Given the description of an element on the screen output the (x, y) to click on. 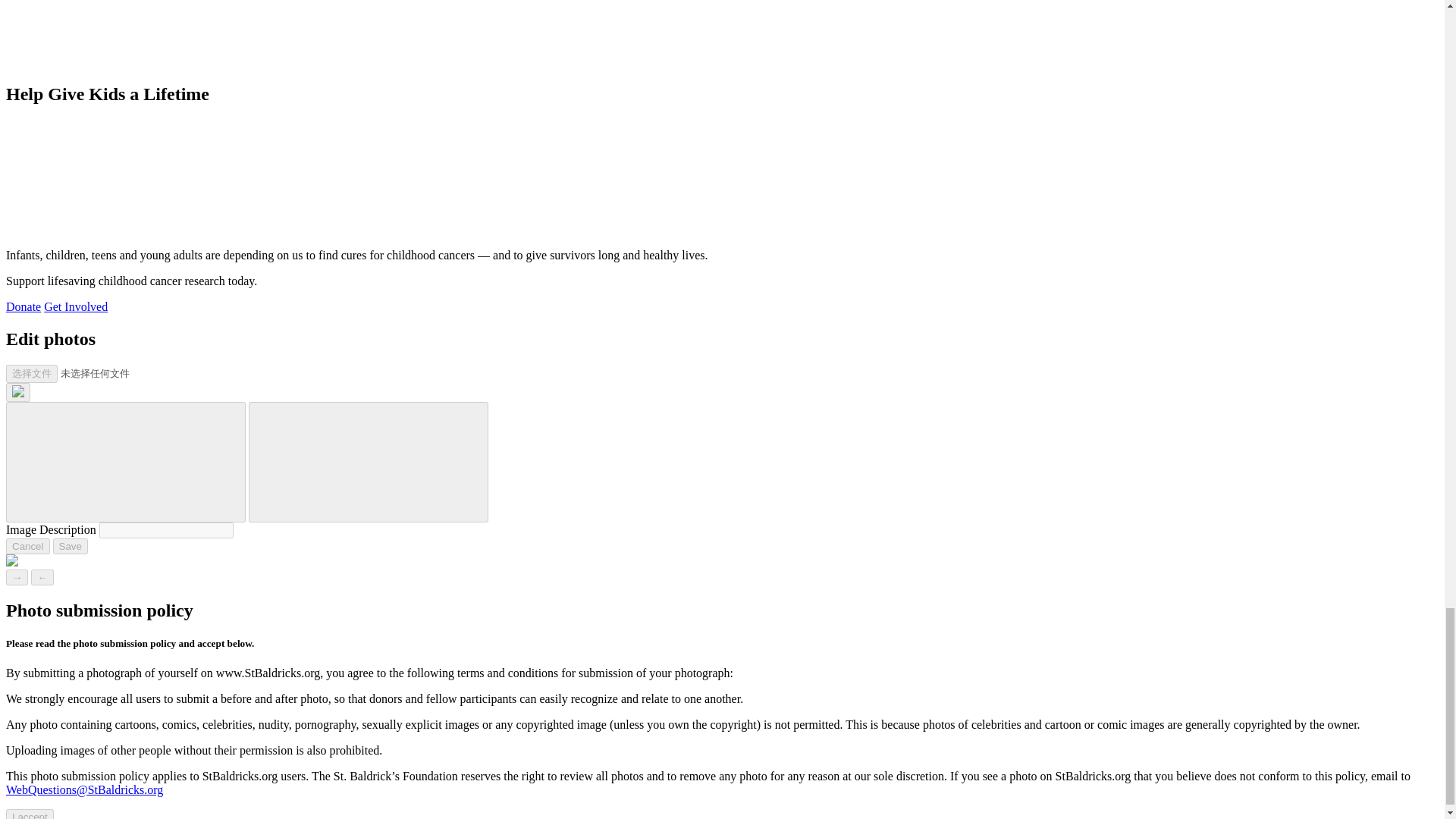
Donate (22, 306)
Get Involved (75, 306)
Cancel (27, 546)
Save (69, 546)
